Given the description of an element on the screen output the (x, y) to click on. 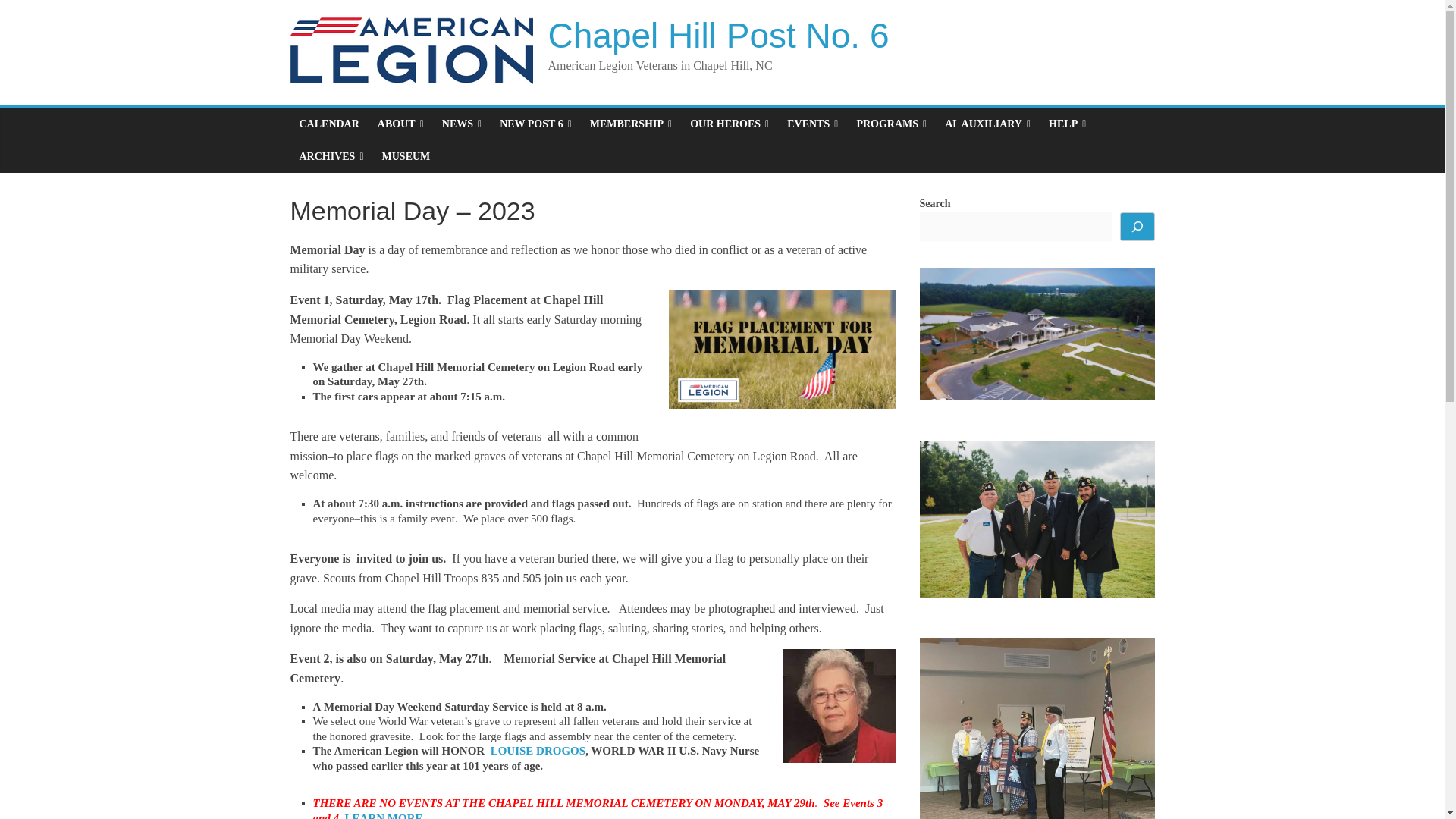
Chapel Hill Post No. 6 (717, 35)
ABOUT (400, 124)
CALENDAR (328, 124)
Chapel Hill Post No. 6 (717, 35)
